Given the description of an element on the screen output the (x, y) to click on. 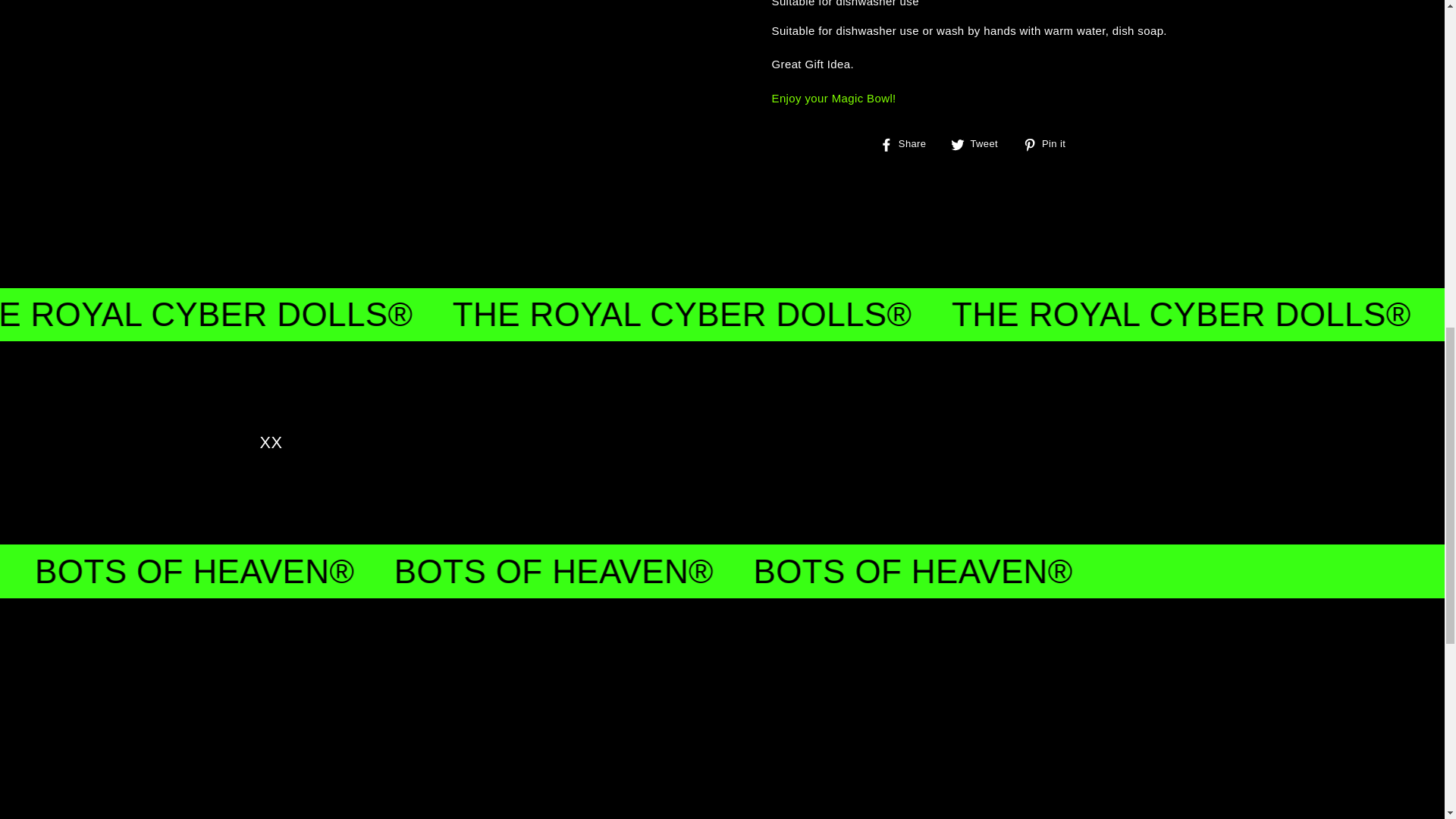
Share on Facebook (908, 144)
Tweet on Twitter (979, 144)
Pin on Pinterest (1050, 144)
